Given the description of an element on the screen output the (x, y) to click on. 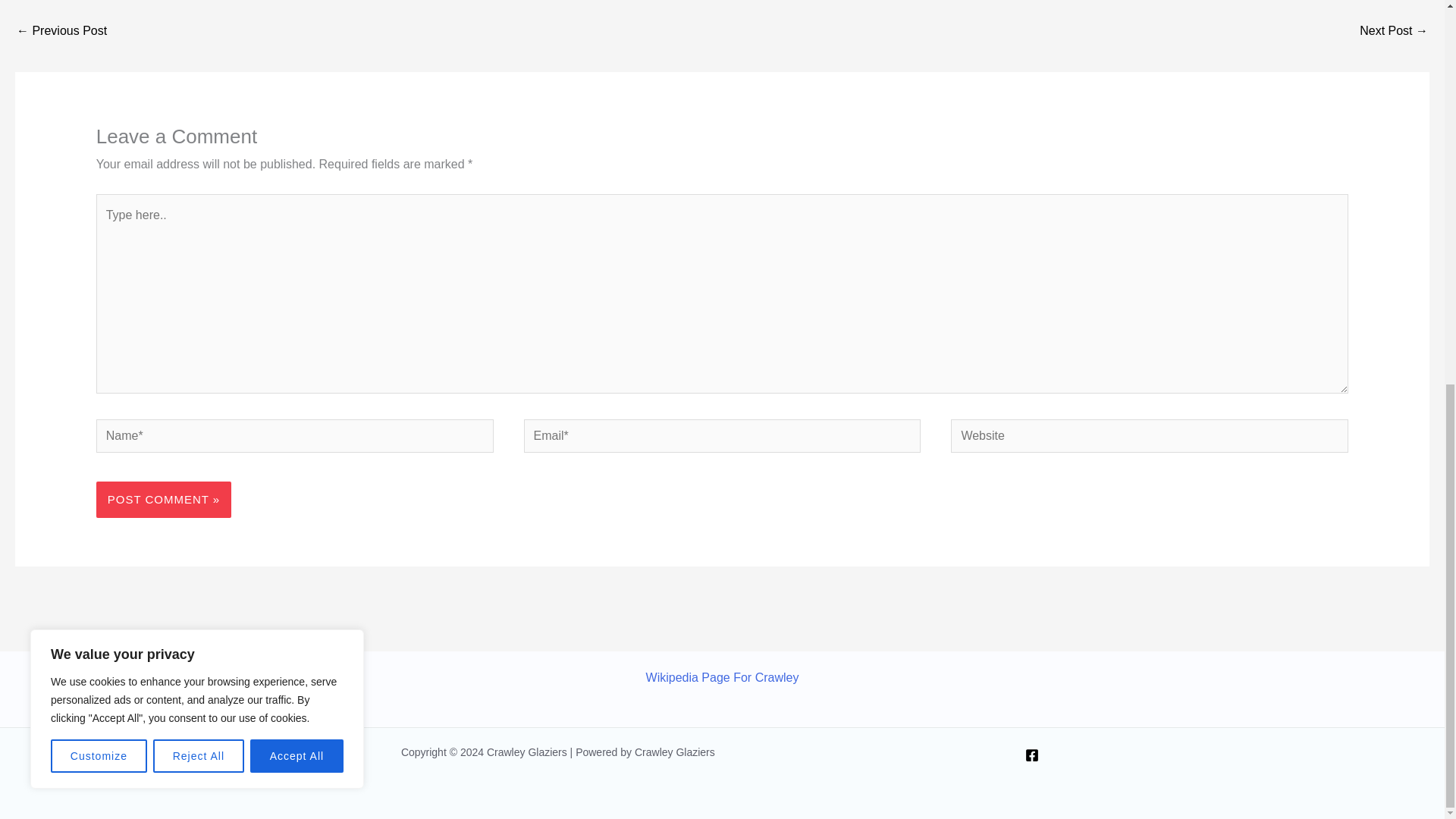
Customize (98, 34)
Merry Christmas and Happy New Year (1393, 31)
Reject All (198, 34)
Accept All (296, 34)
Thawing Frozen Piping (61, 31)
